Given the description of an element on the screen output the (x, y) to click on. 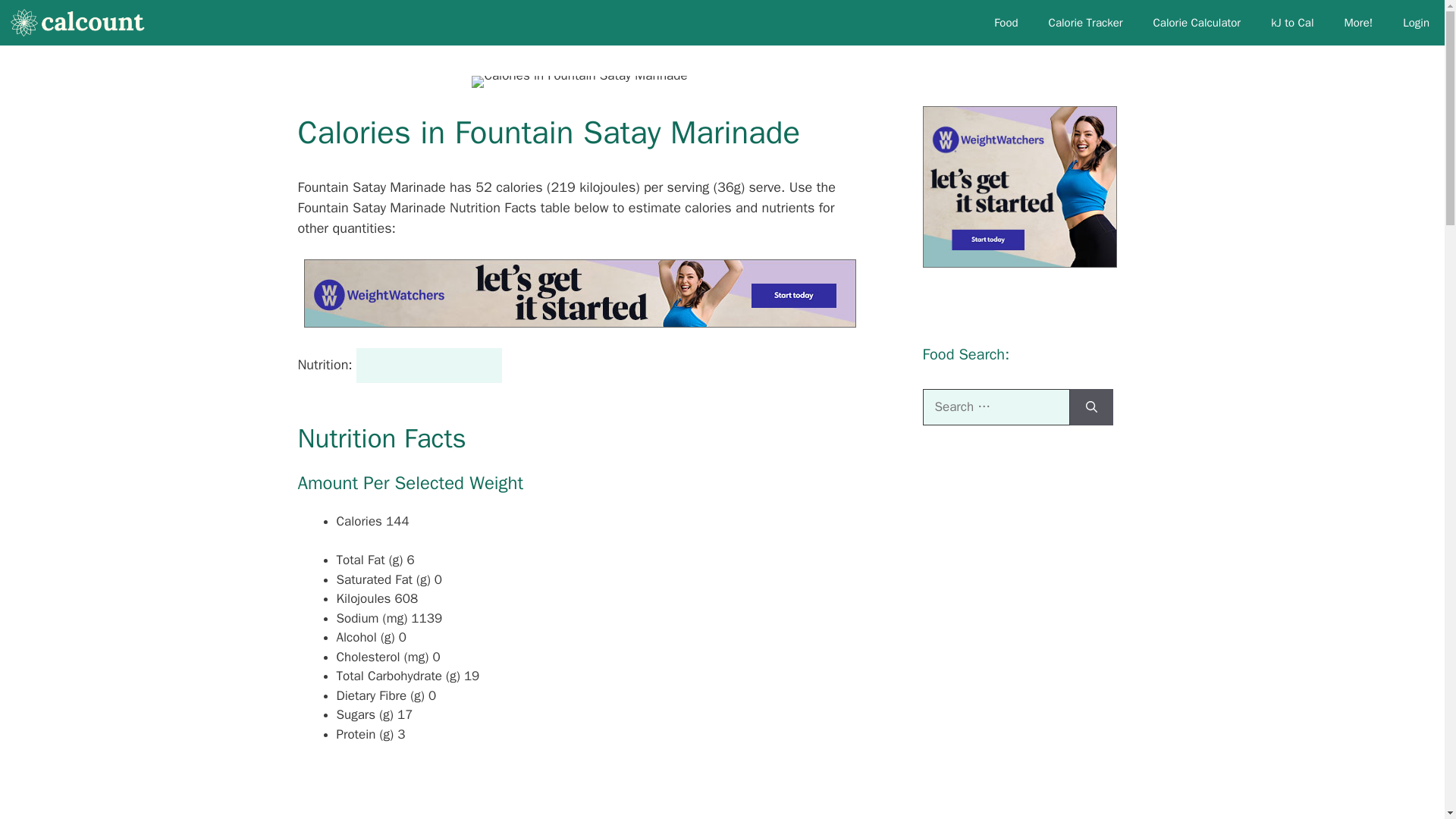
More! (1357, 22)
kJ to Cal (1291, 22)
Calories in Fountain Satay Marinade (579, 81)
Food (1005, 22)
Calorie Calculator (1197, 22)
Search for: (994, 407)
Calorie Tracker (1085, 22)
calcount (82, 22)
